Given the description of an element on the screen output the (x, y) to click on. 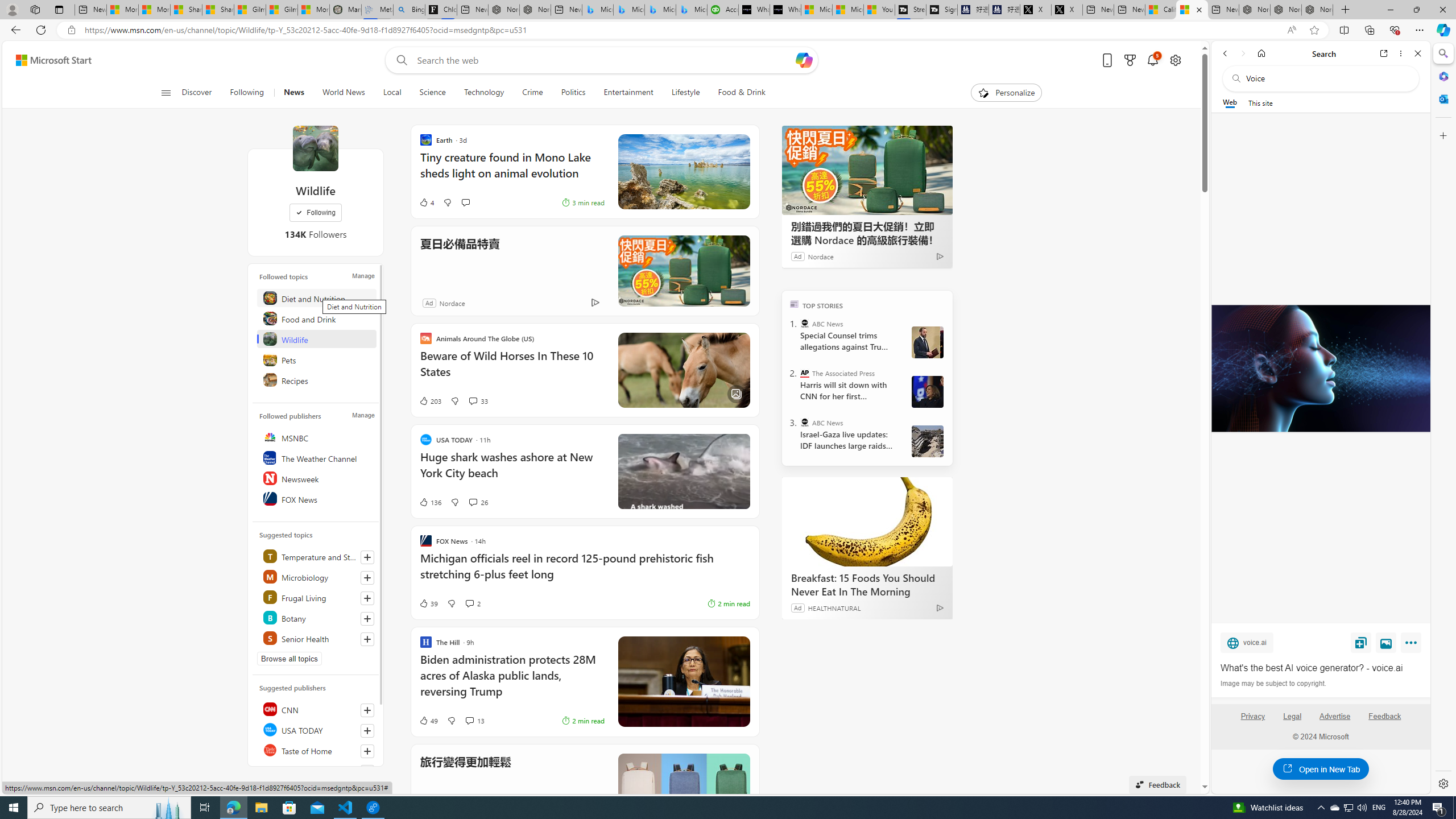
Local (392, 92)
Open navigation menu (164, 92)
Legal (1292, 720)
Privacy (1252, 715)
View comments 33 Comment (472, 400)
Crime (531, 92)
View comments 33 Comment (477, 400)
Class: button-glyph (165, 92)
203 Like (429, 400)
